Given the description of an element on the screen output the (x, y) to click on. 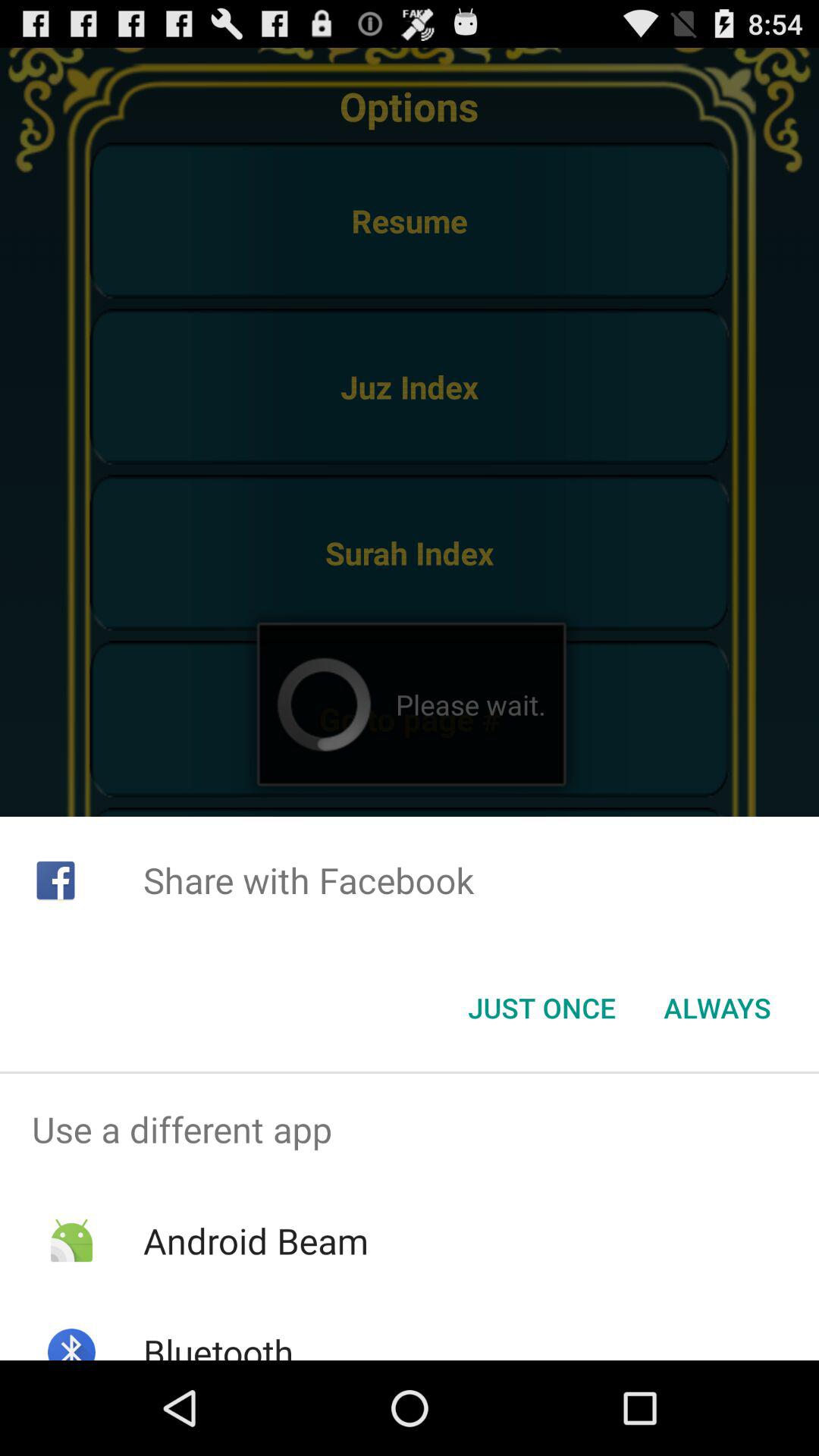
scroll until android beam icon (255, 1240)
